Given the description of an element on the screen output the (x, y) to click on. 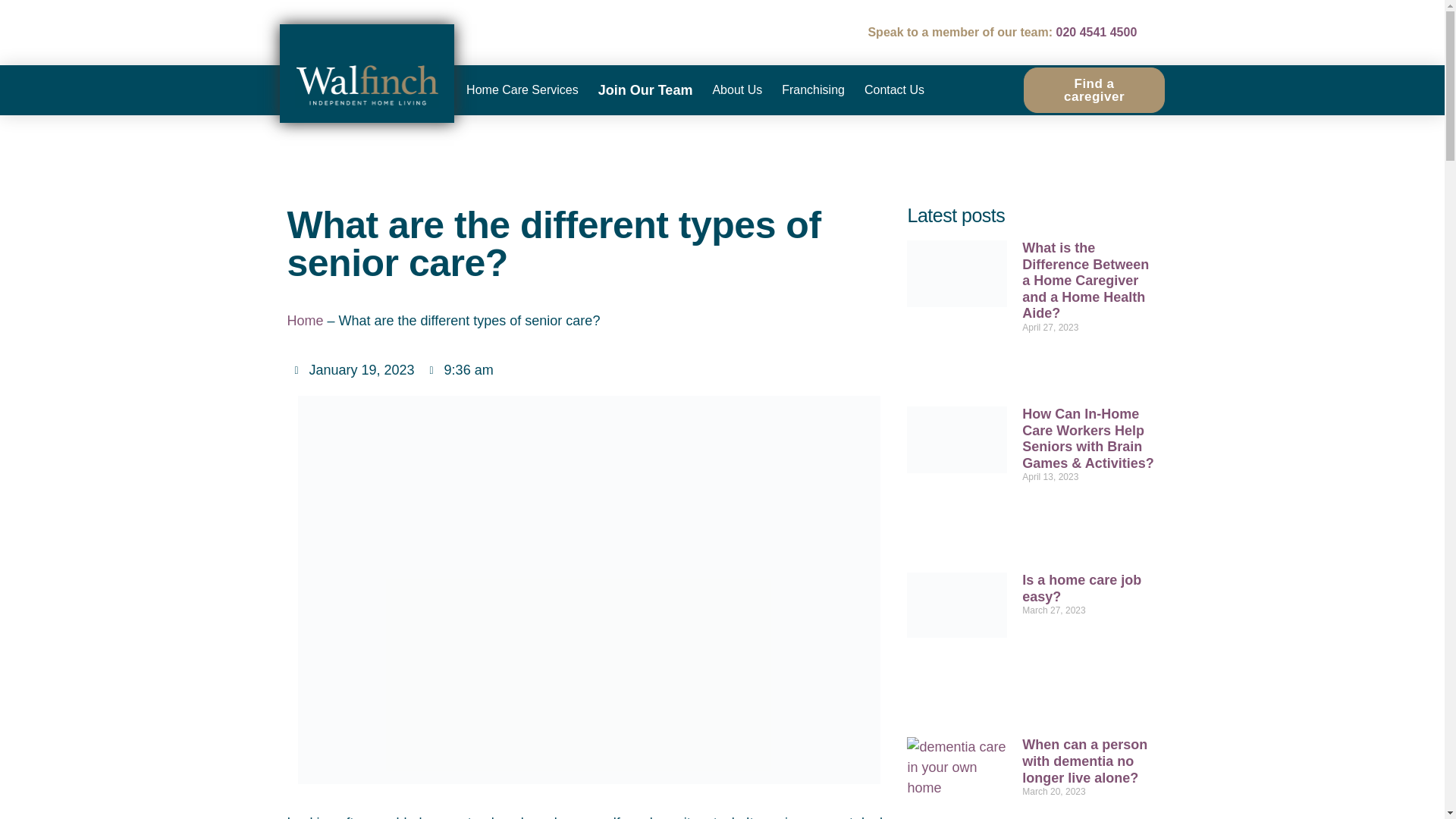
020 4541 4500 (1096, 31)
Join Our Team (645, 89)
Home (304, 320)
Contact Us (894, 89)
About Us (736, 89)
Find a caregiver (1094, 90)
Is a home care job easy? (1081, 588)
Home Care Services (522, 89)
When can a person with dementia no longer live alone? (1084, 760)
